Given the description of an element on the screen output the (x, y) to click on. 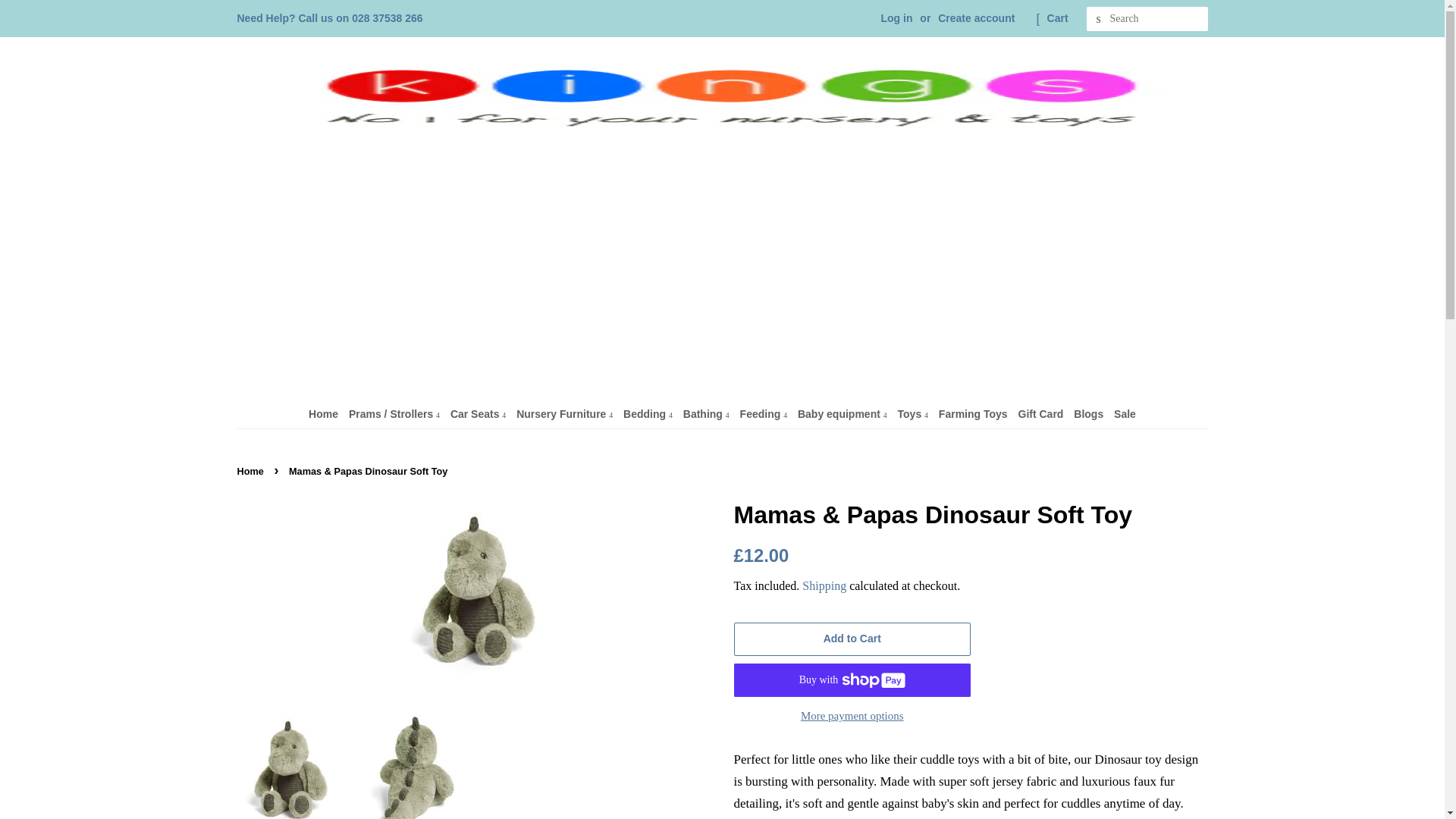
Search (1097, 18)
Cart (1057, 18)
Back to the frontpage (250, 471)
Create account (975, 18)
Log in (896, 18)
